Given the description of an element on the screen output the (x, y) to click on. 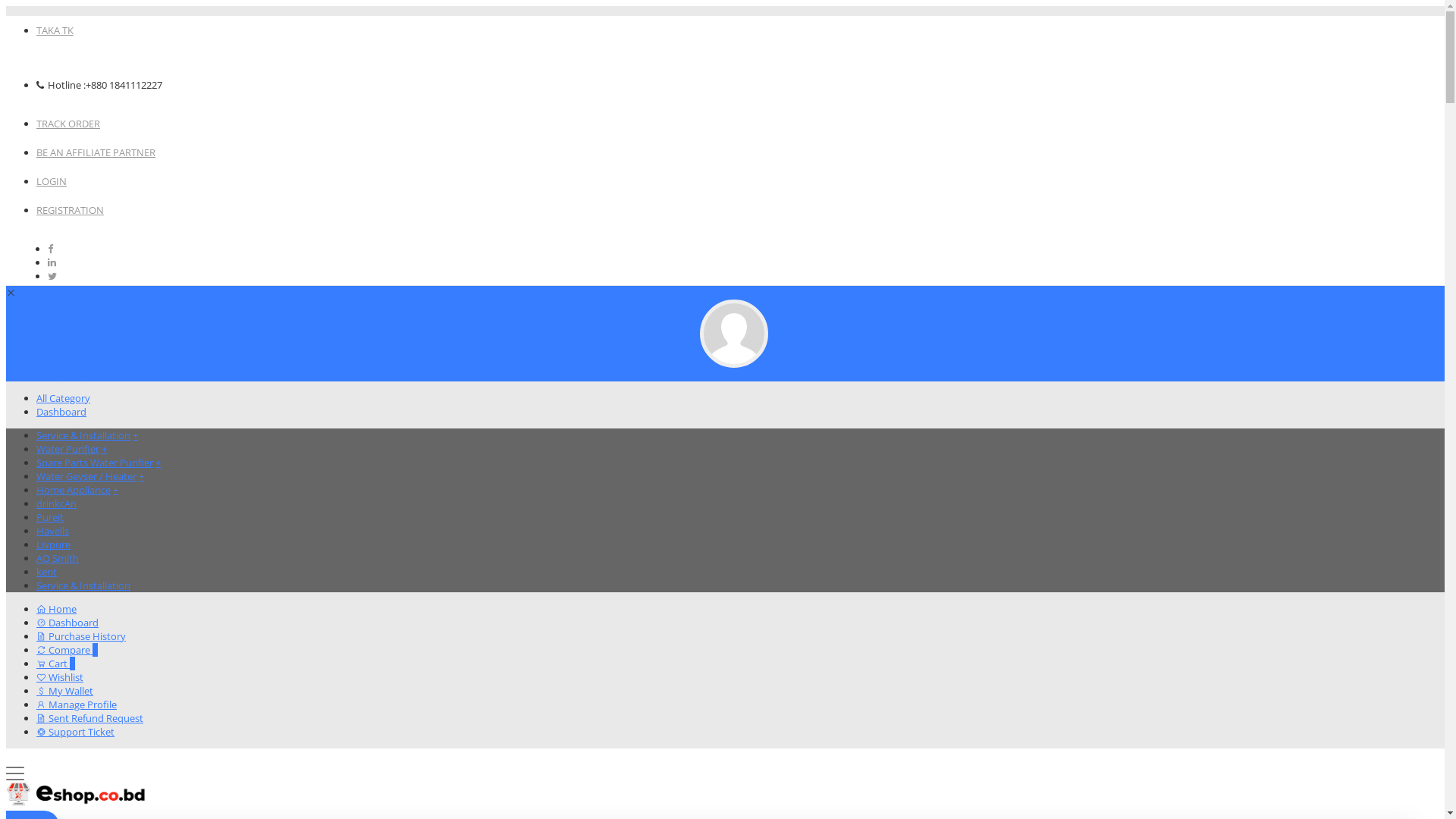
+ Element type: text (141, 476)
+ Element type: text (157, 462)
Dashboard Element type: text (61, 411)
Cart 0 Element type: text (55, 663)
Service & Installation Element type: text (83, 435)
Purchase History Element type: text (80, 636)
Registration Element type: text (65, 374)
Support Ticket Element type: text (75, 731)
Home Element type: text (56, 608)
+ Element type: text (115, 489)
Service & Installation Element type: text (83, 585)
Spare Parts Water Purifier Element type: text (94, 462)
All Category Element type: text (63, 397)
TAKA TK Element type: text (54, 29)
Water Geyser / Heater Element type: text (86, 476)
BE AN AFFILIATE PARTNER Element type: text (95, 152)
Water Purifier Element type: text (67, 448)
TRACK ORDER Element type: text (68, 123)
drinkcAn Element type: text (56, 503)
Home Appliance Element type: text (73, 489)
LOGIN Element type: text (51, 180)
Wishlist Element type: text (59, 677)
Manage Profile Element type: text (76, 704)
kent Element type: text (46, 571)
Sent Refund Request Element type: text (89, 717)
REGISTRATION Element type: text (69, 209)
Livpure Element type: text (53, 544)
Pureit Element type: text (49, 517)
Compare 0 Element type: text (66, 649)
Sign In Element type: text (21, 374)
My Wallet Element type: text (64, 690)
+ Element type: text (103, 448)
Havells Element type: text (52, 530)
+ Element type: text (135, 435)
AO Smith Element type: text (57, 557)
Dashboard Element type: text (67, 622)
